Given the description of an element on the screen output the (x, y) to click on. 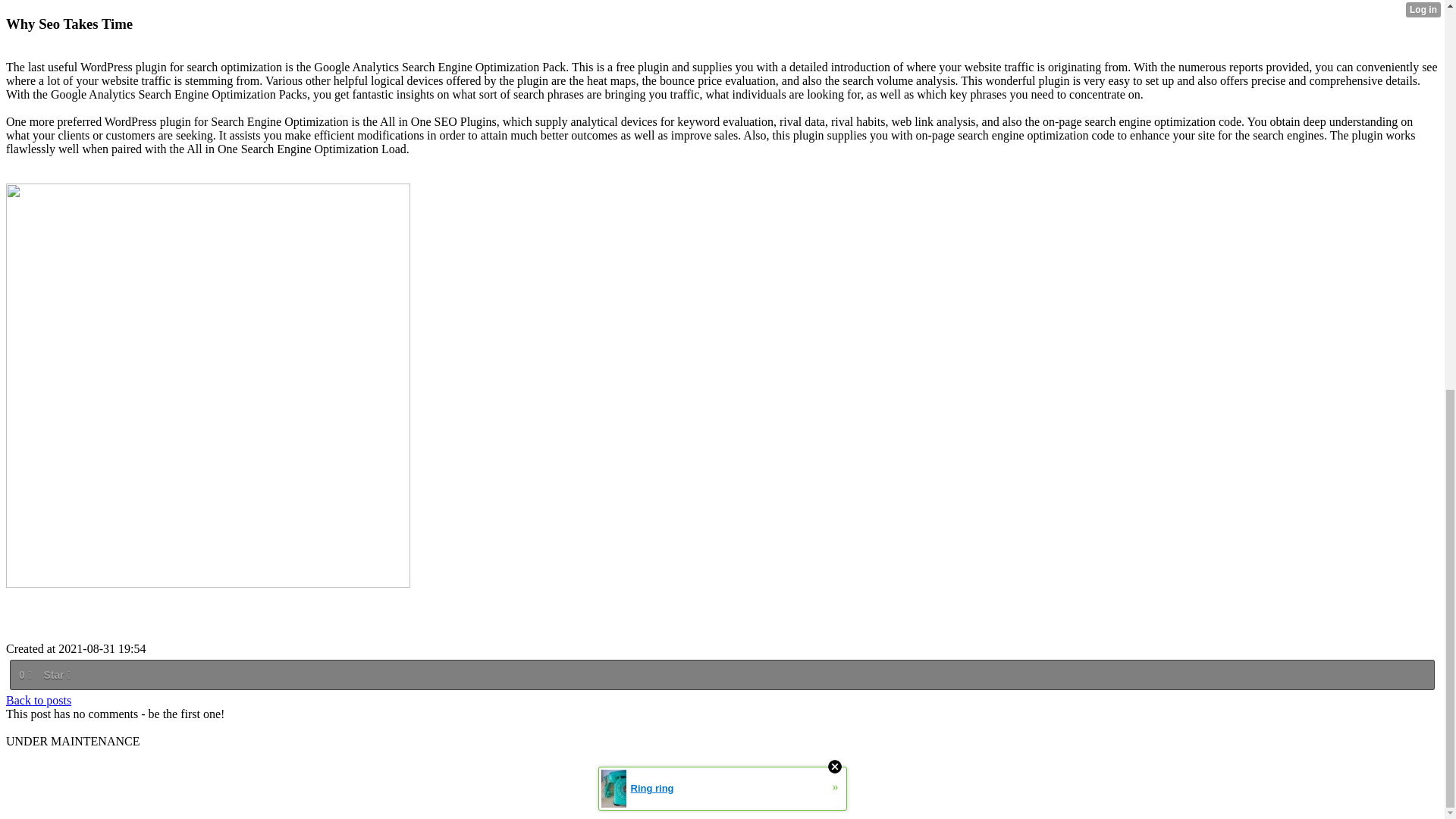
0 (24, 674)
Back to posts (38, 699)
Star (56, 674)
